Given the description of an element on the screen output the (x, y) to click on. 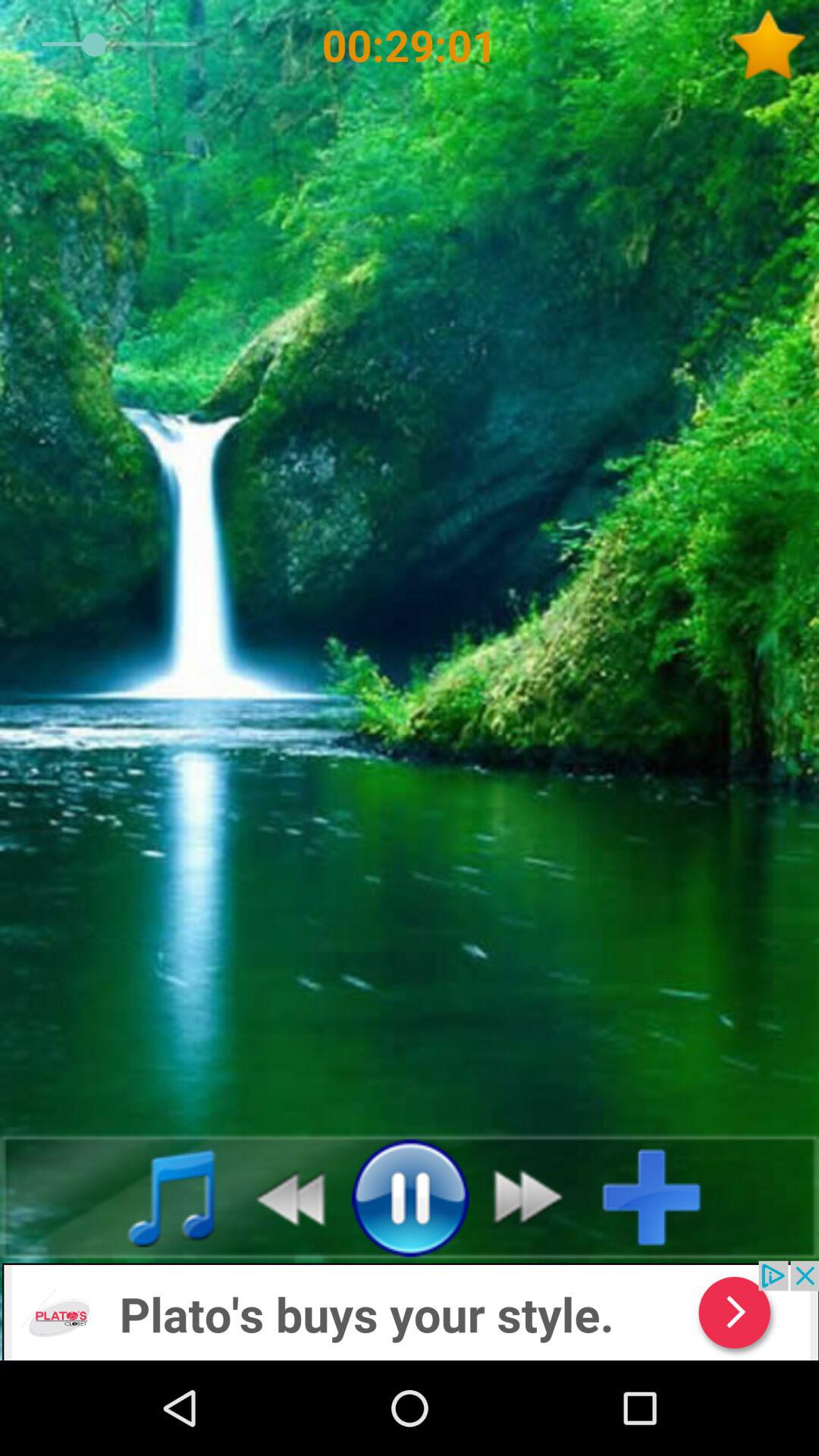
go back (281, 1196)
